Given the description of an element on the screen output the (x, y) to click on. 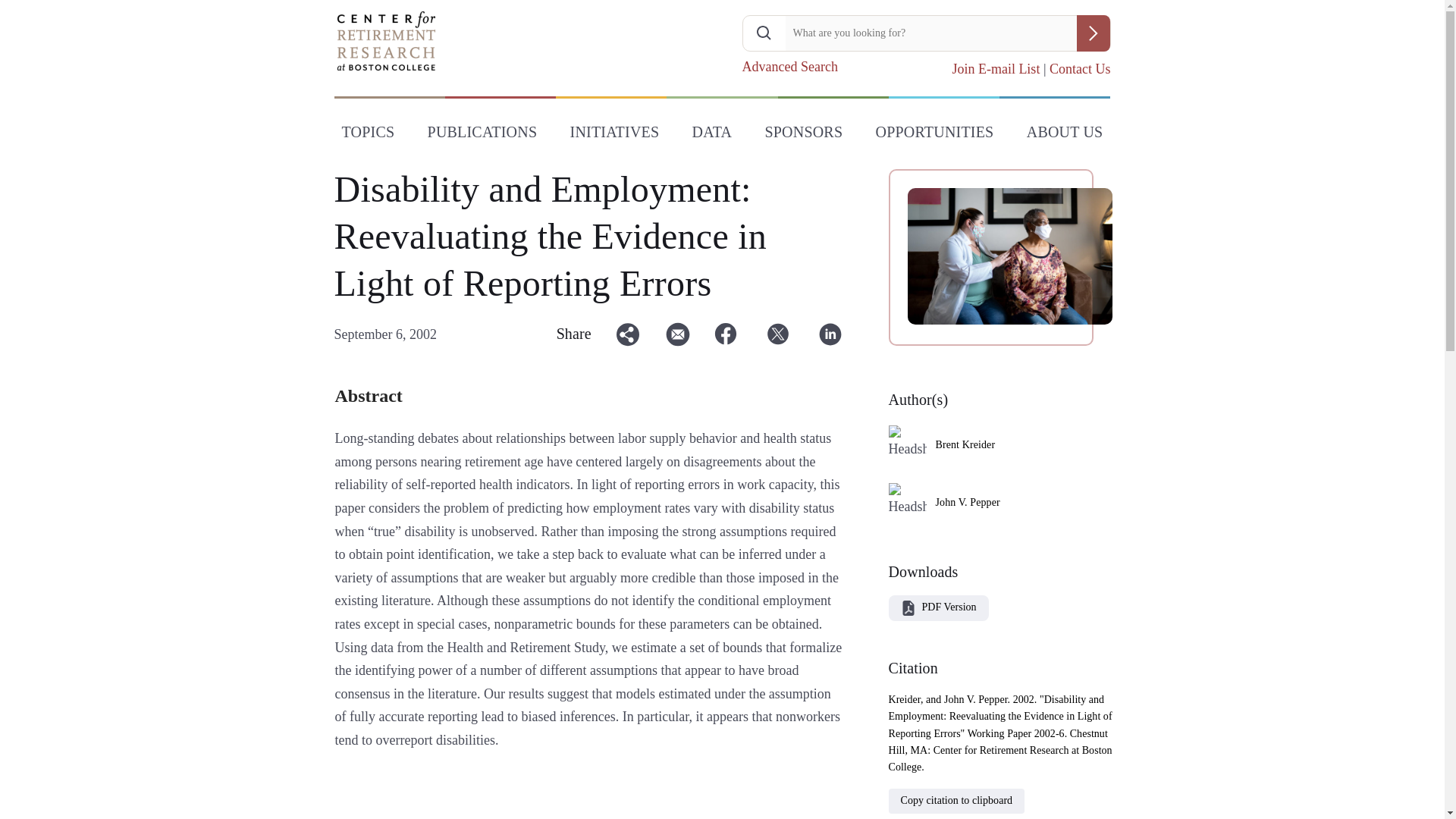
PUBLICATIONS (482, 135)
Share on Twitter (778, 339)
PDF Version (948, 606)
INITIATIVES (614, 135)
Copy citation to clipboard (957, 799)
SPONSORS (803, 135)
Posts by John V. Pepper (968, 501)
Advanced Search (789, 66)
Contact Us (1079, 68)
OPPORTUNITIES (934, 135)
